Given the description of an element on the screen output the (x, y) to click on. 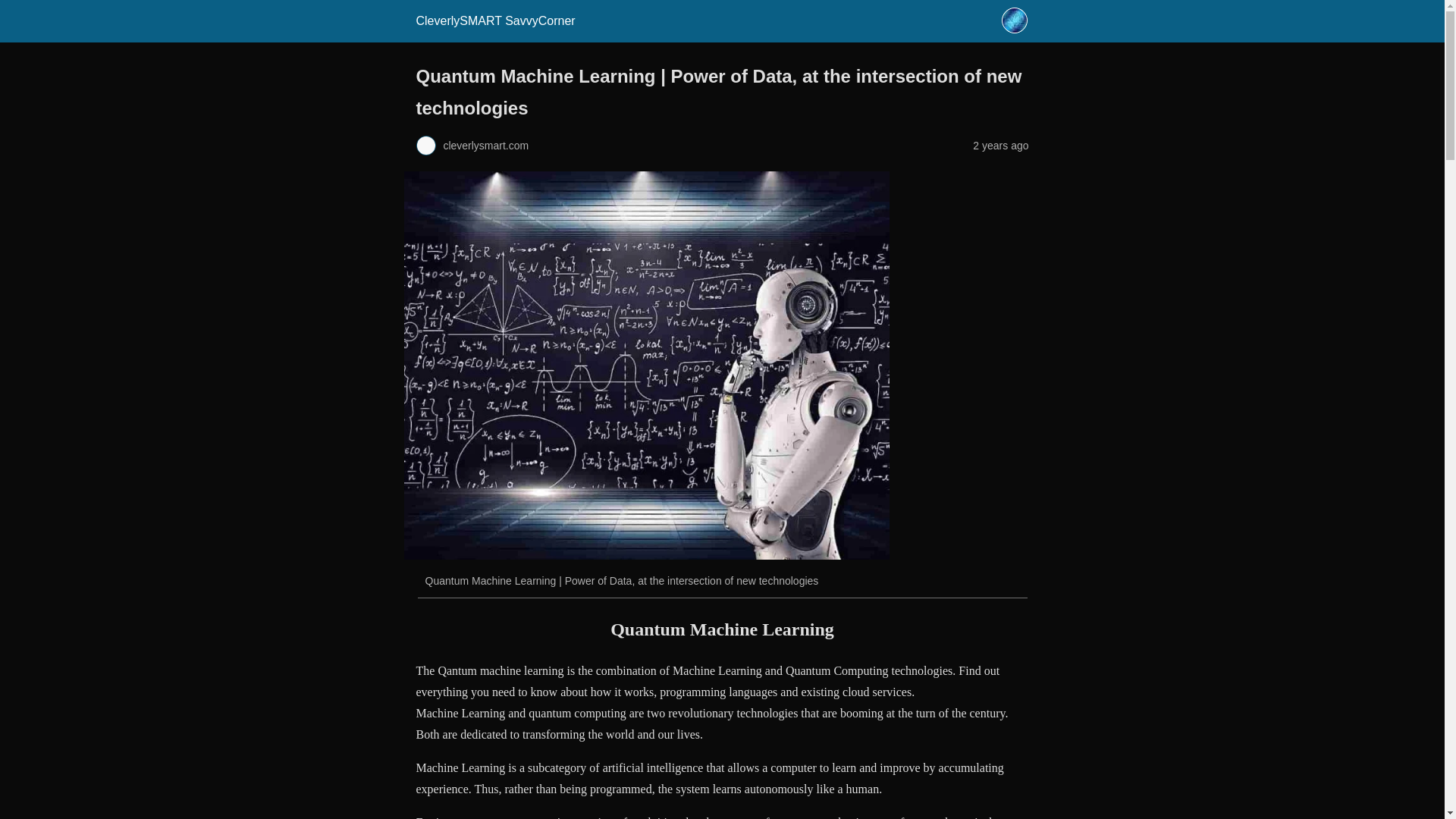
CleverlySMART SavvyCorner (494, 20)
